Given the description of an element on the screen output the (x, y) to click on. 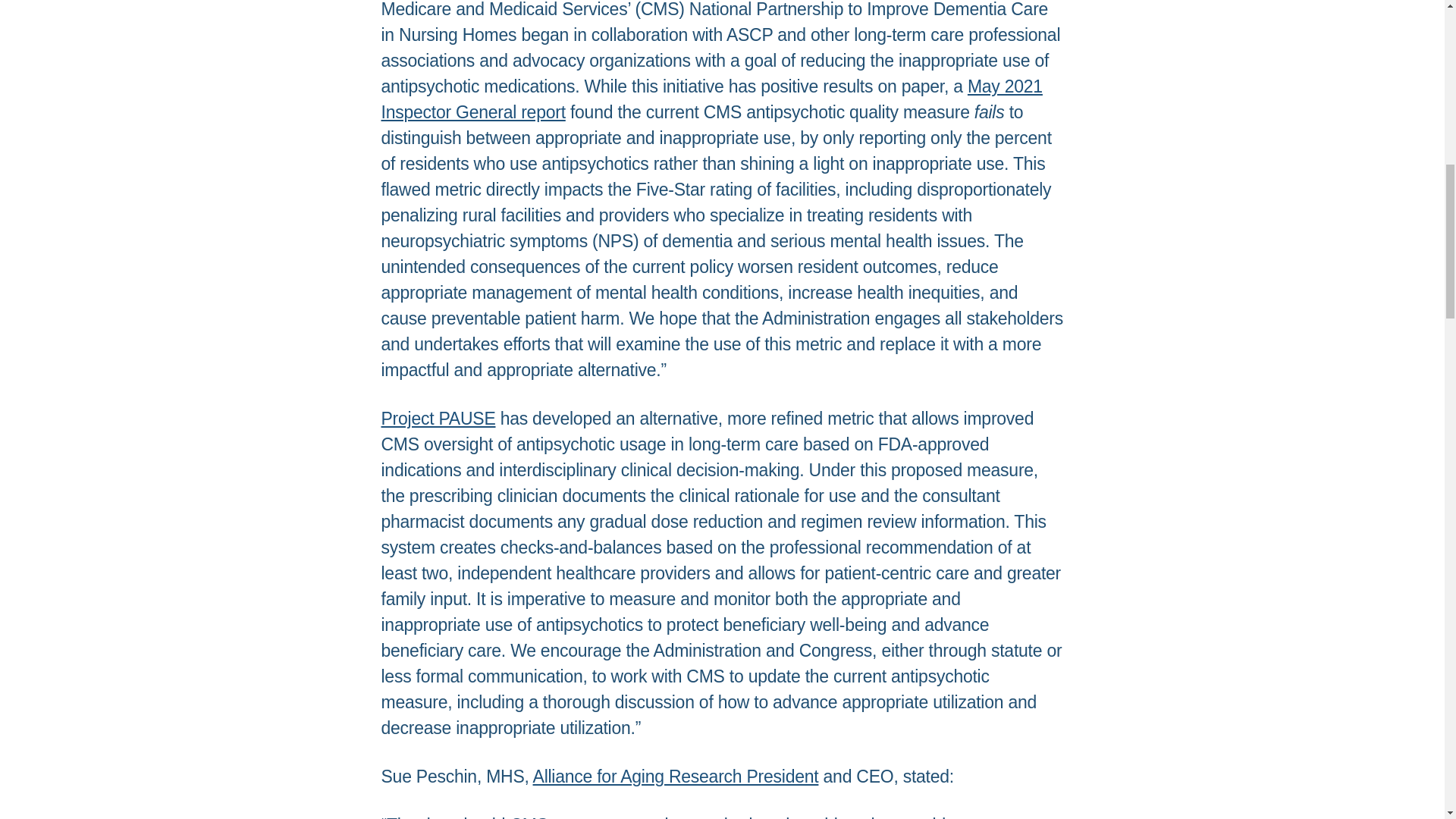
Project PAUSE (437, 418)
Alliance for Aging Research President (675, 776)
May 2021 Inspector General report (711, 99)
